Given the description of an element on the screen output the (x, y) to click on. 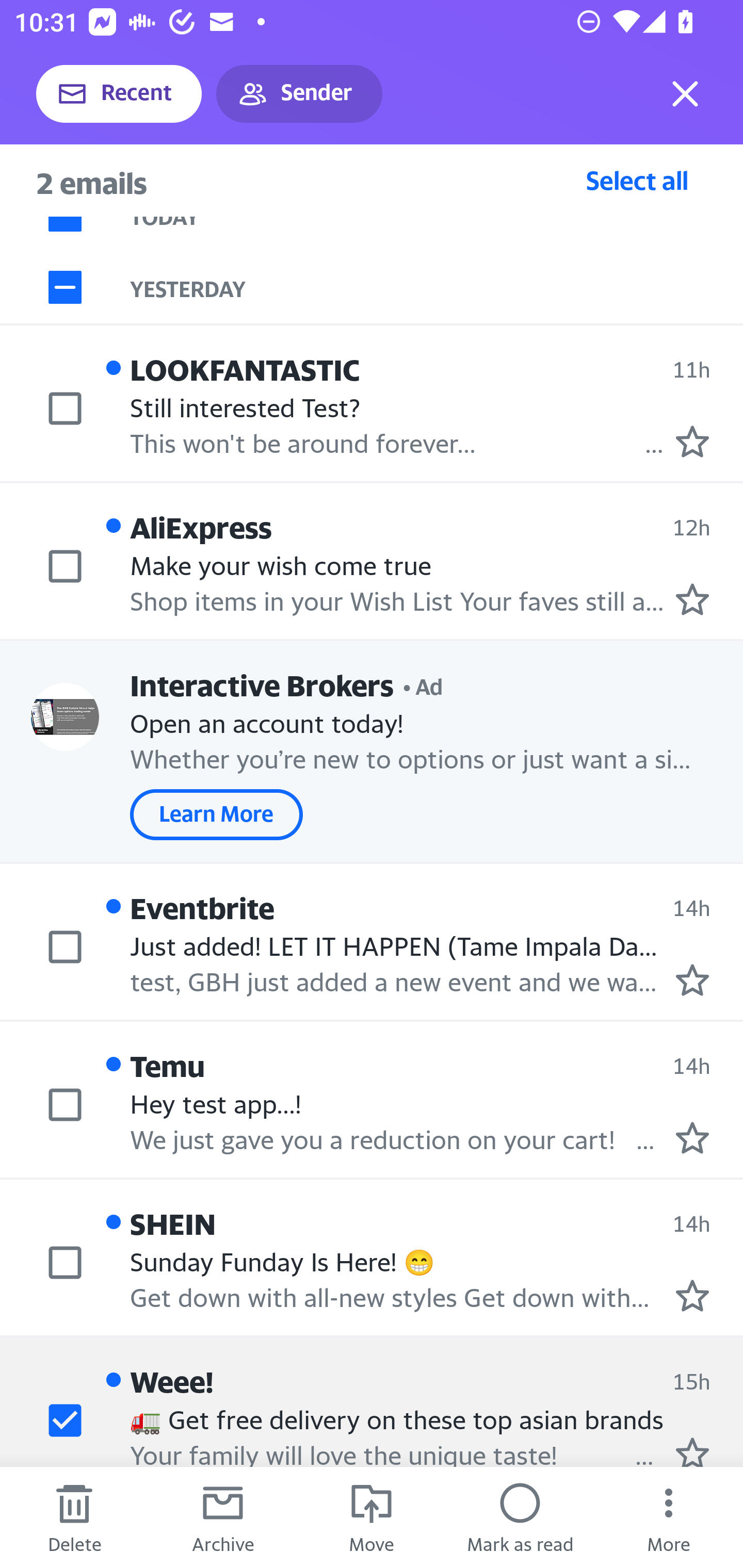
Sender (299, 93)
Exit selection mode (684, 93)
Select all (637, 180)
YESTERDAY (436, 287)
Mark as starred. (692, 441)
Mark as starred. (692, 599)
Mark as starred. (692, 979)
Mark as starred. (692, 1137)
Mark as starred. (692, 1295)
Mark as starred. (692, 1450)
Delete (74, 1517)
Archive (222, 1517)
Move (371, 1517)
Mark as read (519, 1517)
More (668, 1517)
